Given the description of an element on the screen output the (x, y) to click on. 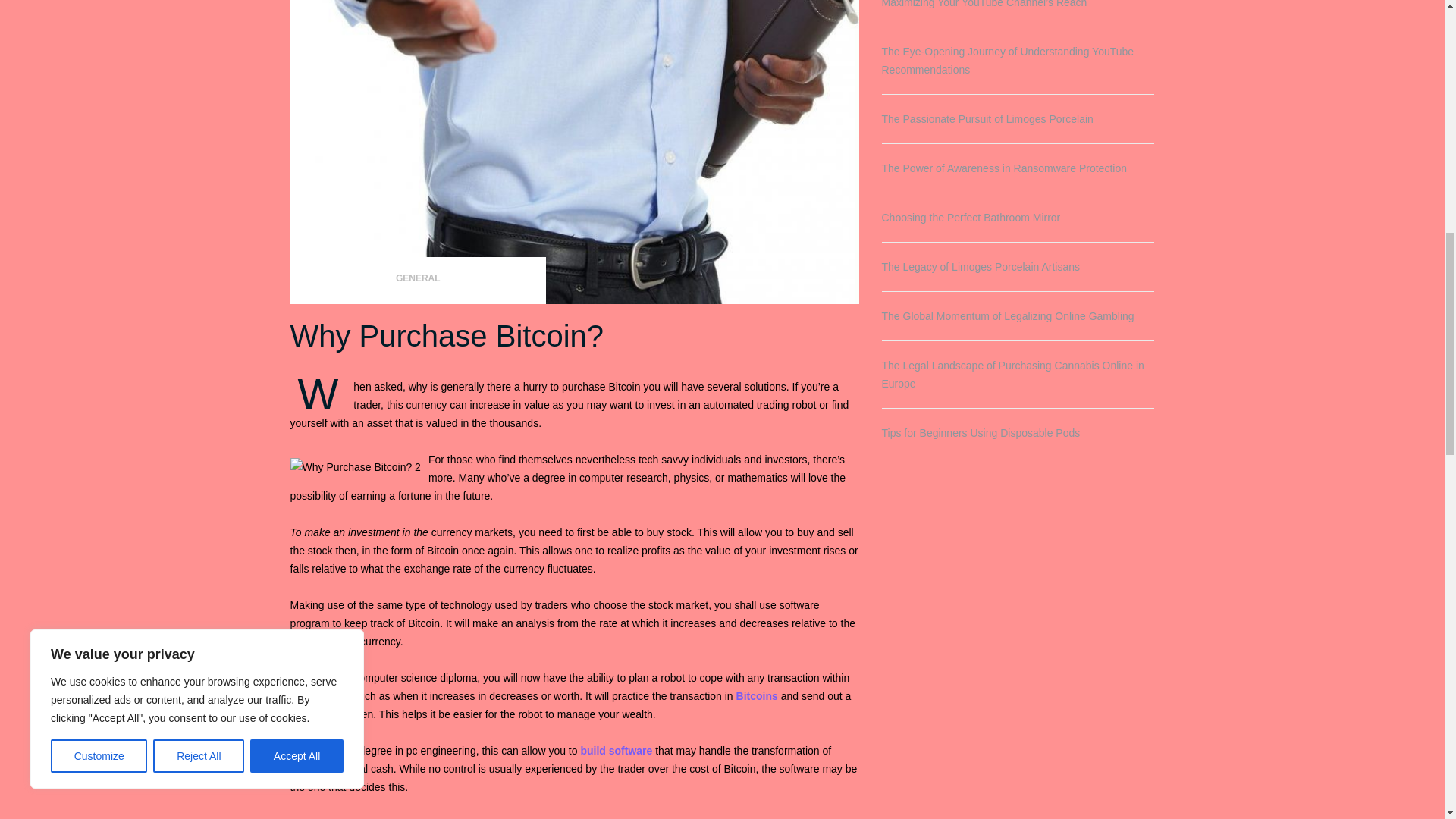
GENERAL (417, 283)
Why Purchase Bitcoin? (446, 335)
Bitcoins (756, 695)
build software (615, 750)
